Given the description of an element on the screen output the (x, y) to click on. 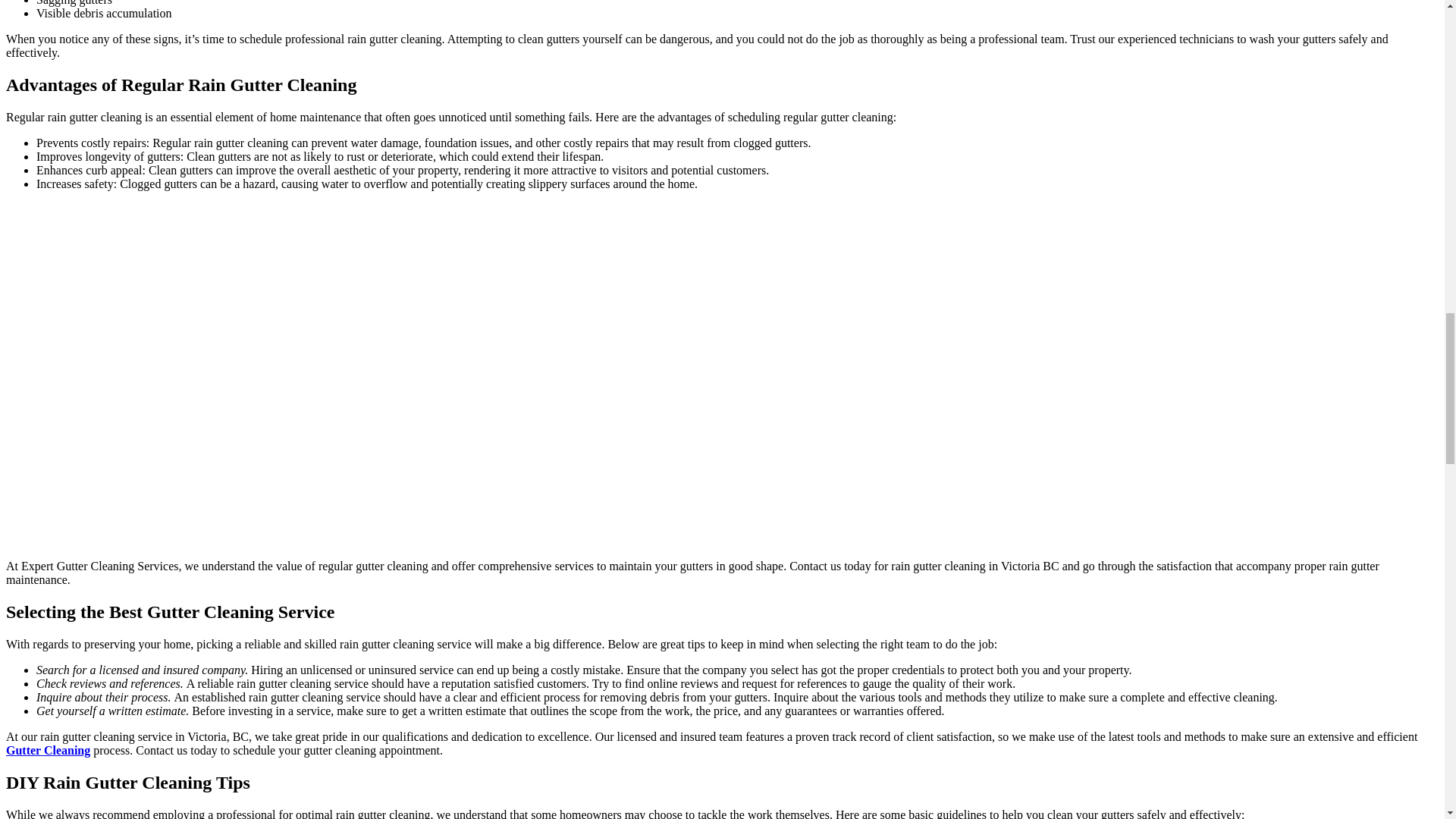
Gutter Cleaning (47, 749)
